Given the description of an element on the screen output the (x, y) to click on. 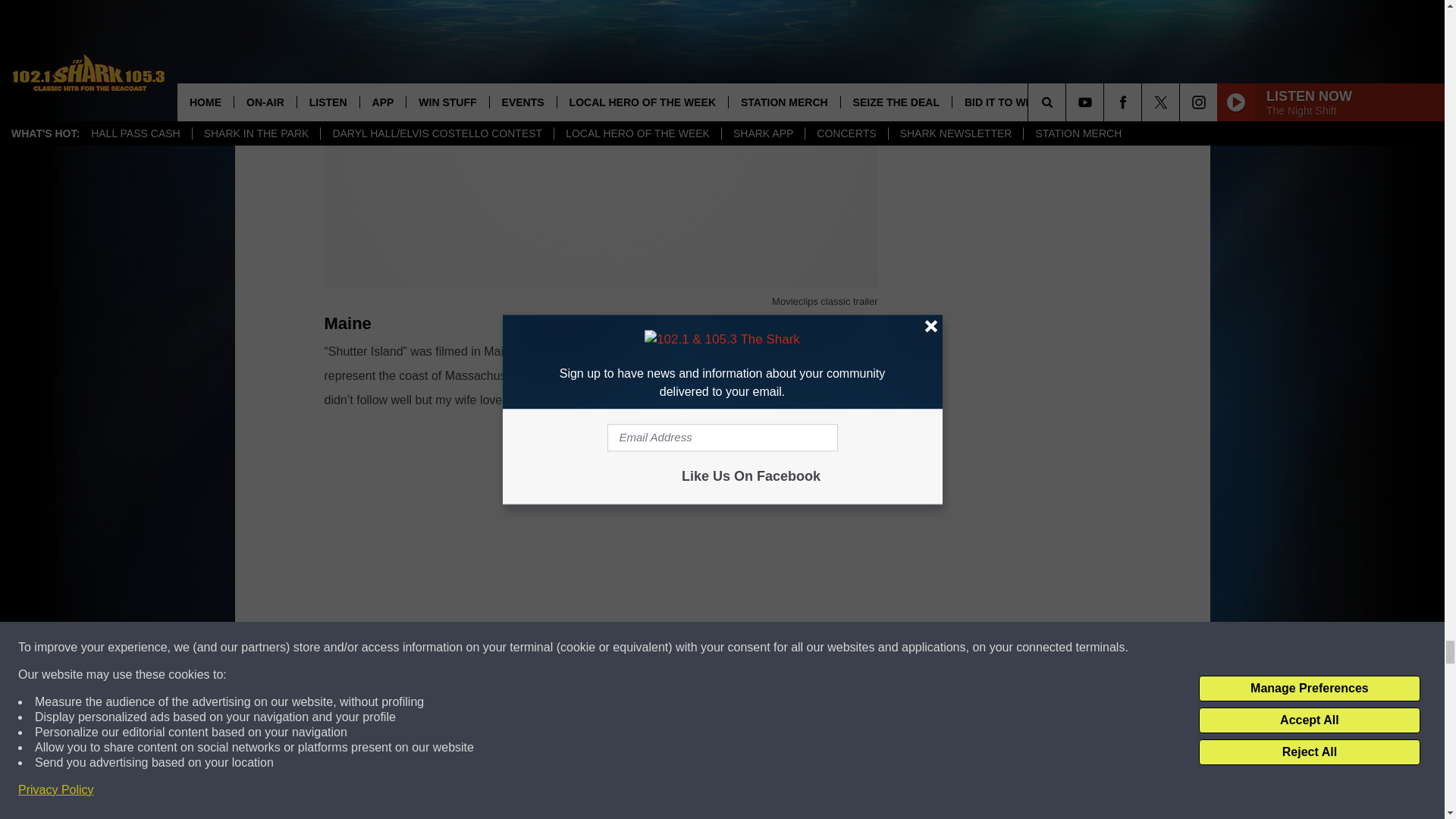
YouTube video player (600, 544)
